Given the description of an element on the screen output the (x, y) to click on. 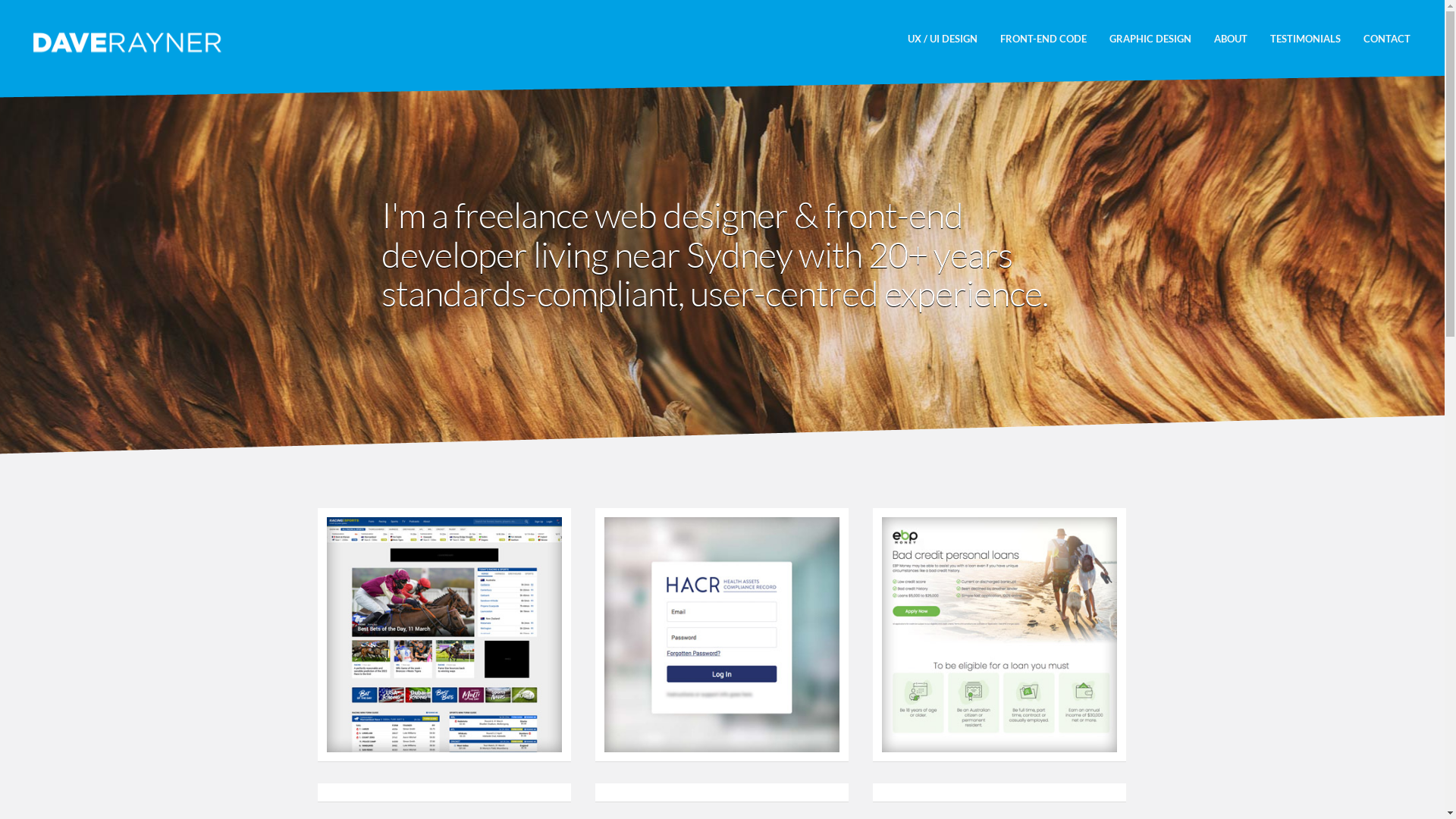
ABOUT Element type: text (1230, 38)
GRAPHIC DESIGN Element type: text (1150, 38)
CONTACT Element type: text (1386, 38)
TESTIMONIALS Element type: text (1305, 38)
UX / UI DESIGN Element type: text (942, 38)
FRONT-END CODE Element type: text (1043, 38)
